Given the description of an element on the screen output the (x, y) to click on. 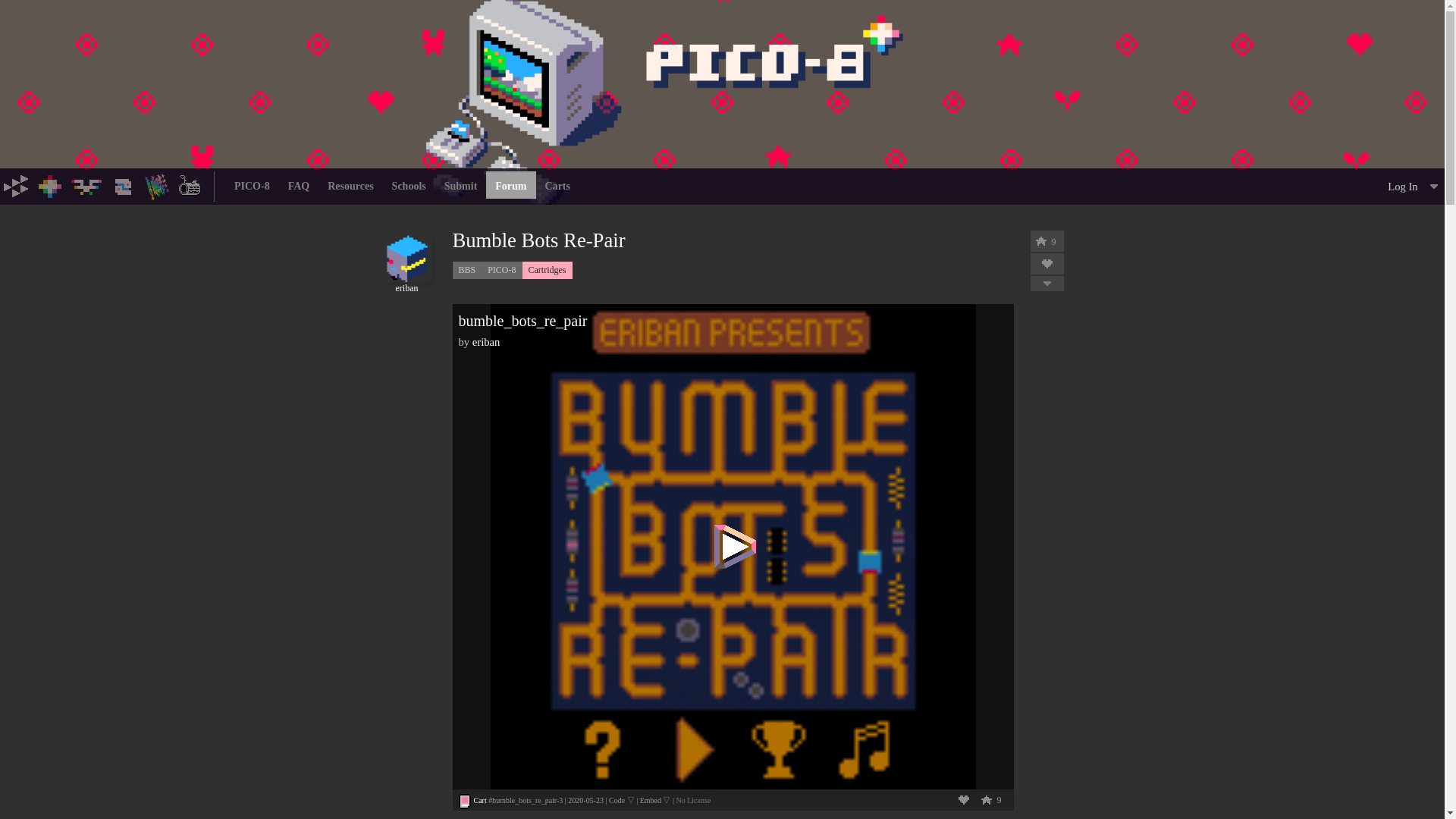
Superblog (189, 184)
eriban (405, 282)
PICO-8 (501, 270)
PICO-8 (49, 184)
Open Cartridge File (479, 800)
Lexaloffle Games (16, 184)
Cartridges (547, 270)
BBS (466, 270)
Add to your favourites collection (1046, 263)
Picotron (122, 184)
